Given the description of an element on the screen output the (x, y) to click on. 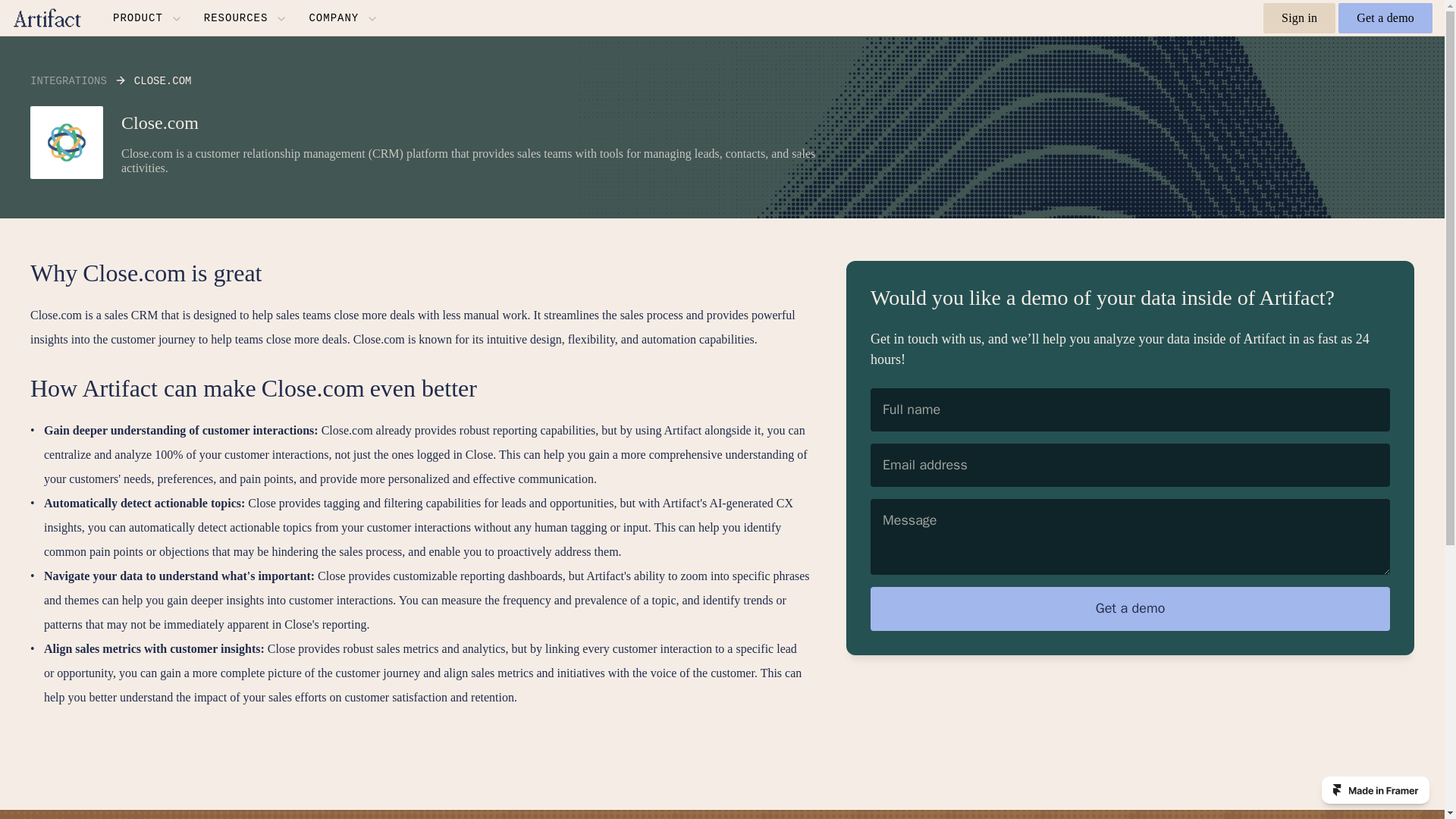
INTEGRATIONS (68, 80)
Get a demo (1385, 18)
Get a demo (1130, 608)
Sign in (1299, 18)
Custom website builder for designers, agencies and startups. (1375, 789)
Get a demo (1130, 608)
